Given the description of an element on the screen output the (x, y) to click on. 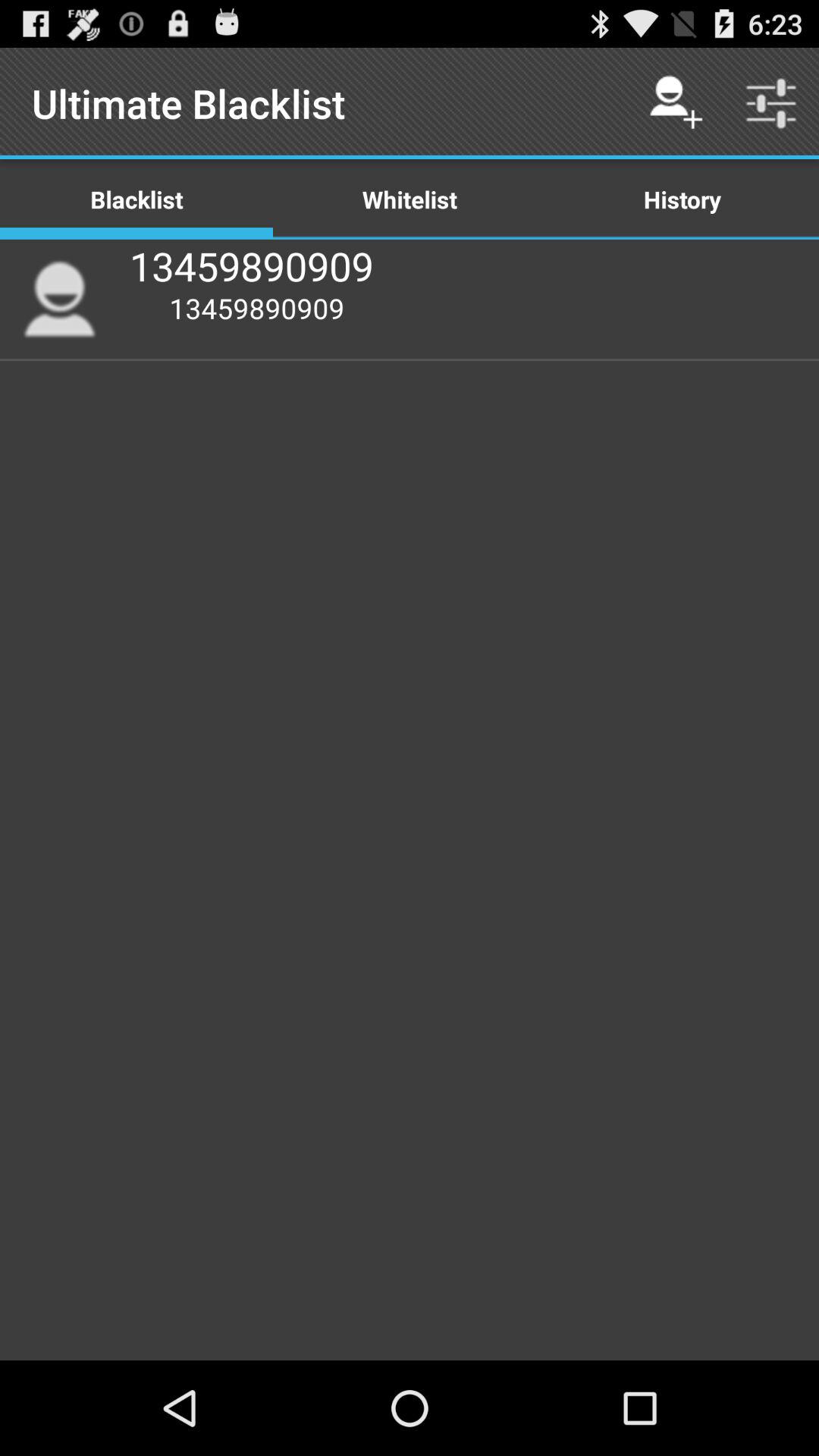
scroll to the whitelist item (409, 199)
